Given the description of an element on the screen output the (x, y) to click on. 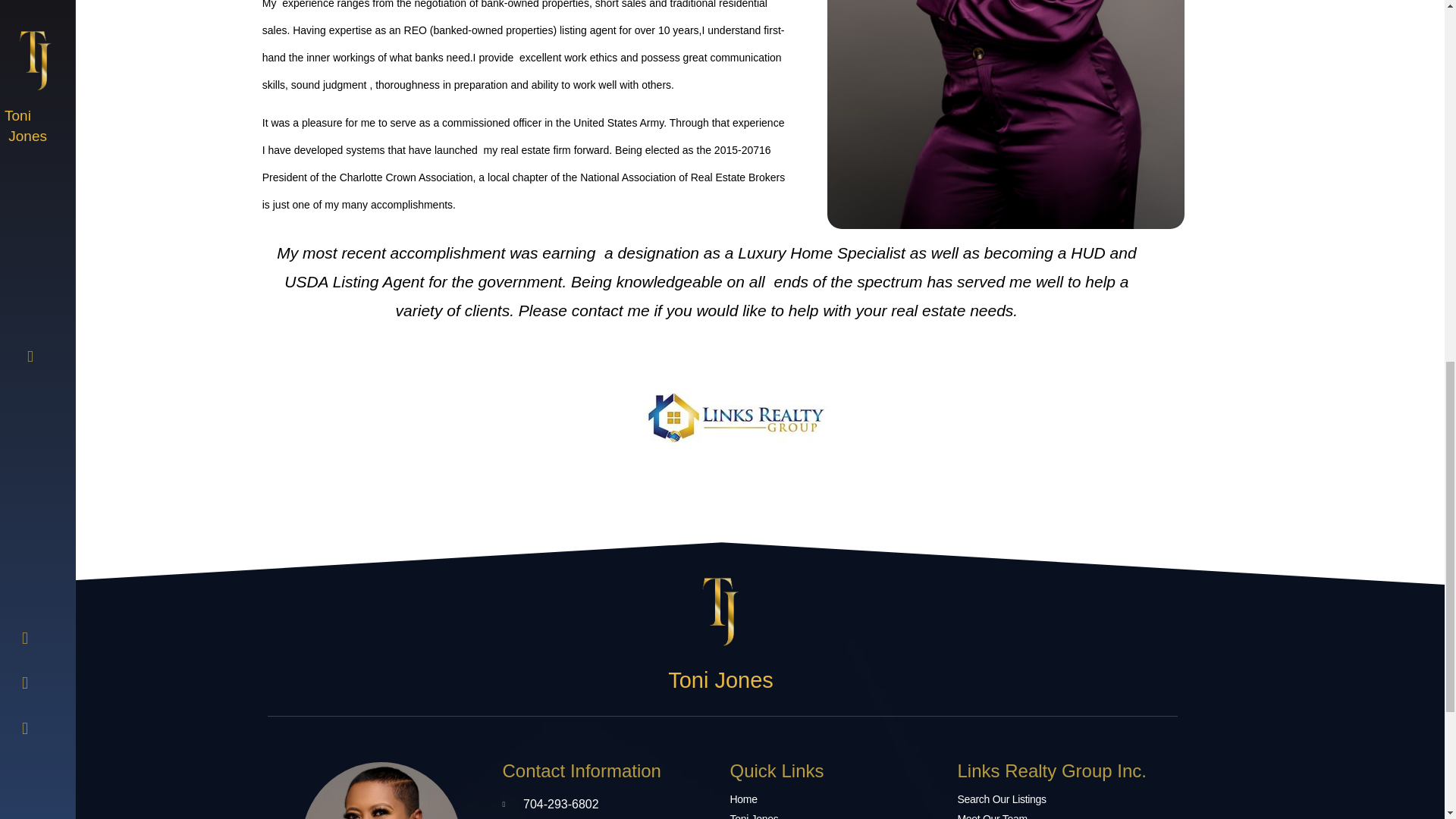
Toni Jones (835, 816)
Home (835, 799)
